Given the description of an element on the screen output the (x, y) to click on. 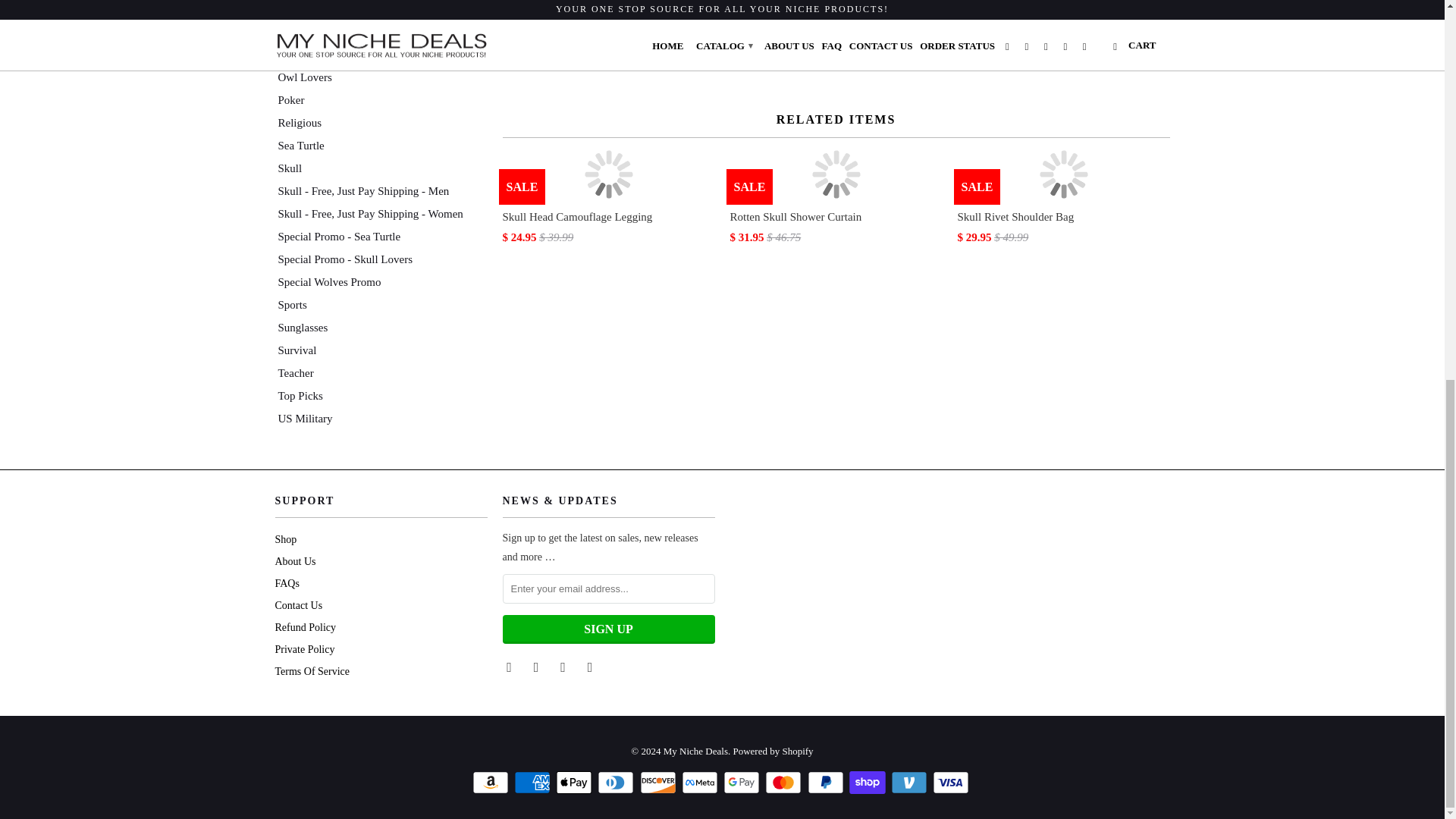
Sign Up (608, 629)
